Given the description of an element on the screen output the (x, y) to click on. 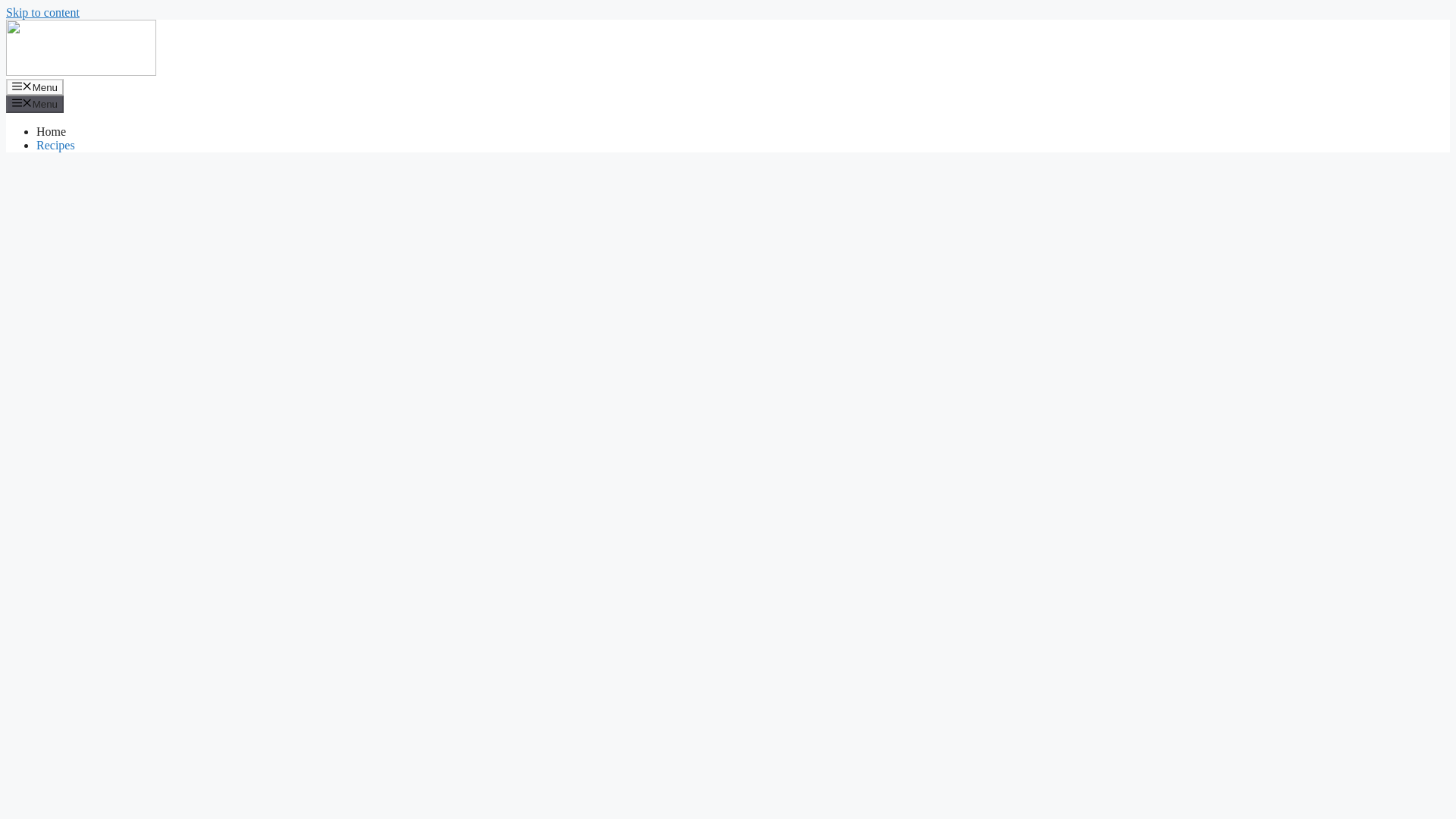
Skip to content (42, 11)
Skip to content (42, 11)
Menu (34, 103)
Menu (34, 86)
Home (50, 131)
